Given the description of an element on the screen output the (x, y) to click on. 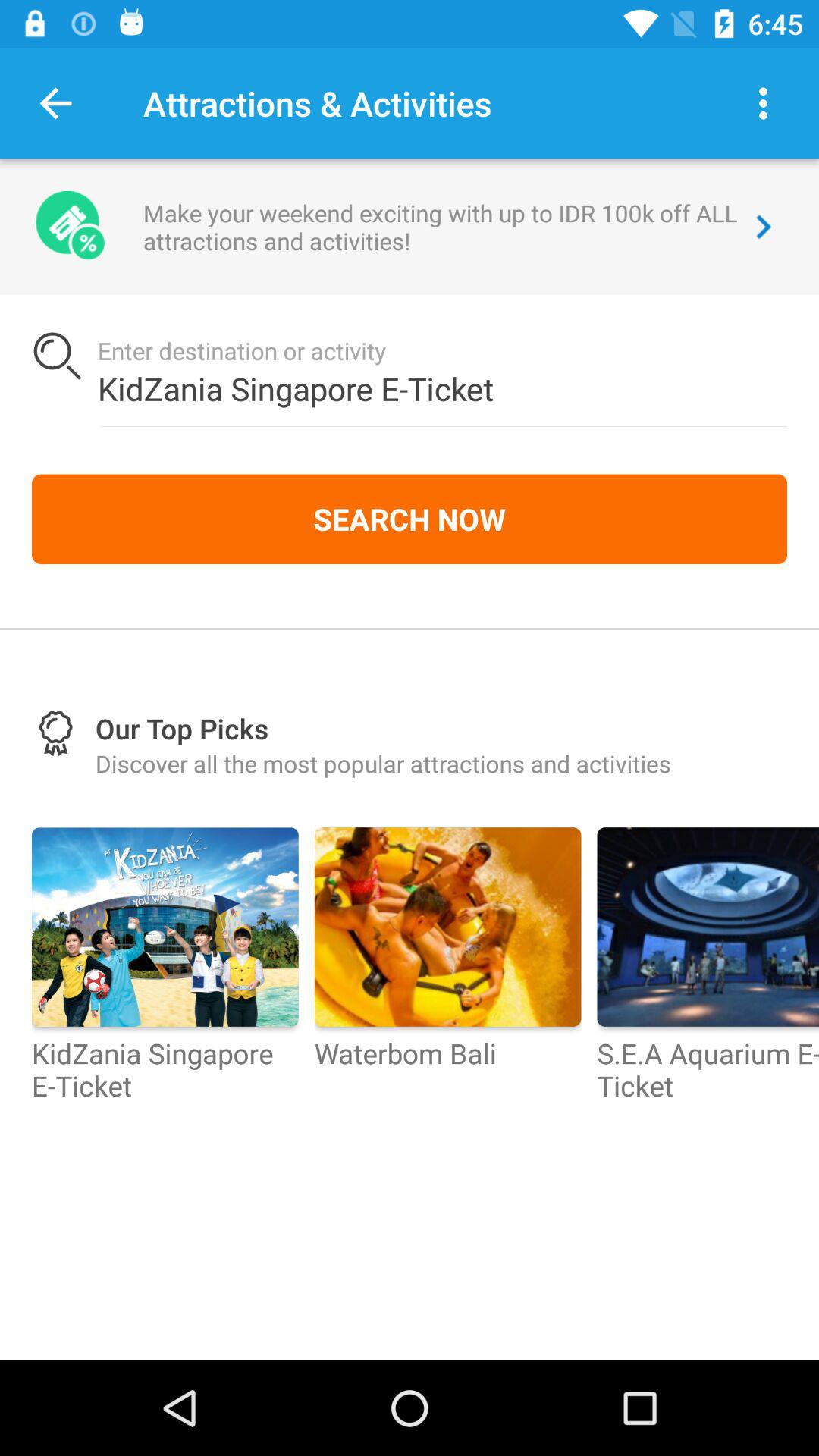
turn off search now icon (409, 519)
